Given the description of an element on the screen output the (x, y) to click on. 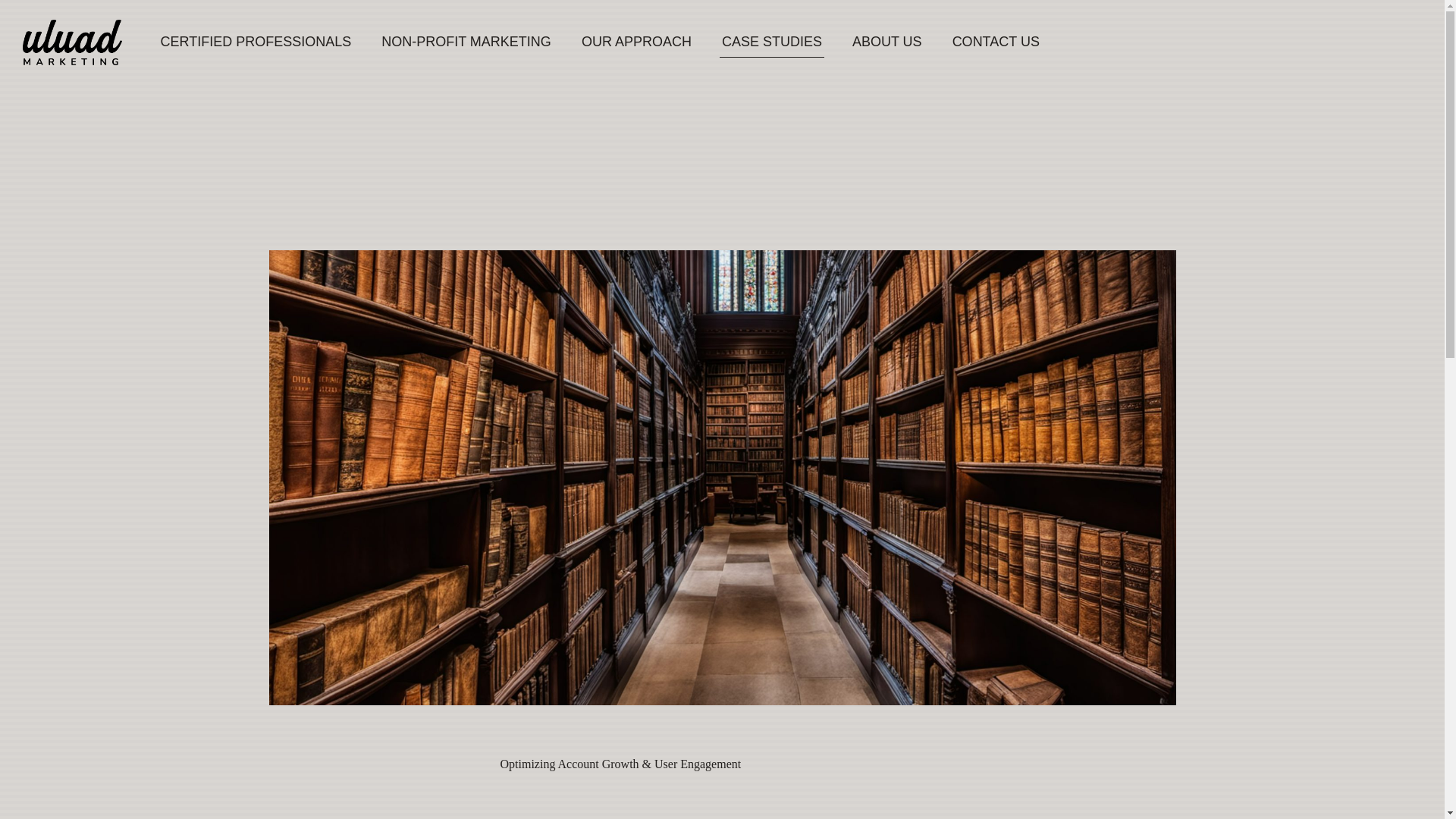
CONTACT US (995, 41)
OUR APPROACH (636, 41)
ULUAD (72, 41)
CERTIFIED PROFESSIONALS (255, 41)
ABOUT US (887, 41)
NON-PROFIT MARKETING (466, 41)
CASE STUDIES (771, 41)
